Given the description of an element on the screen output the (x, y) to click on. 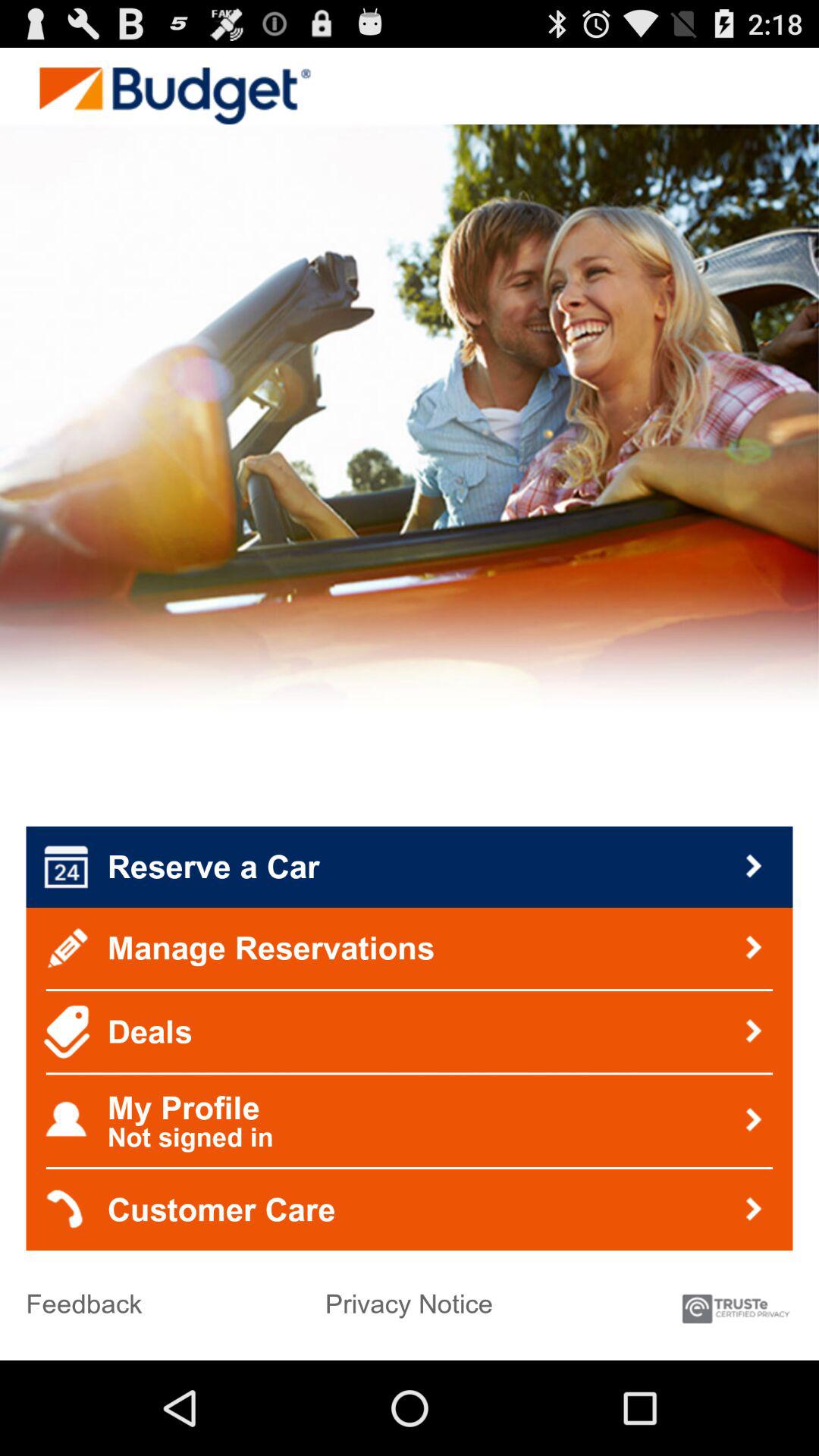
flip to reserve a car (409, 866)
